Given the description of an element on the screen output the (x, y) to click on. 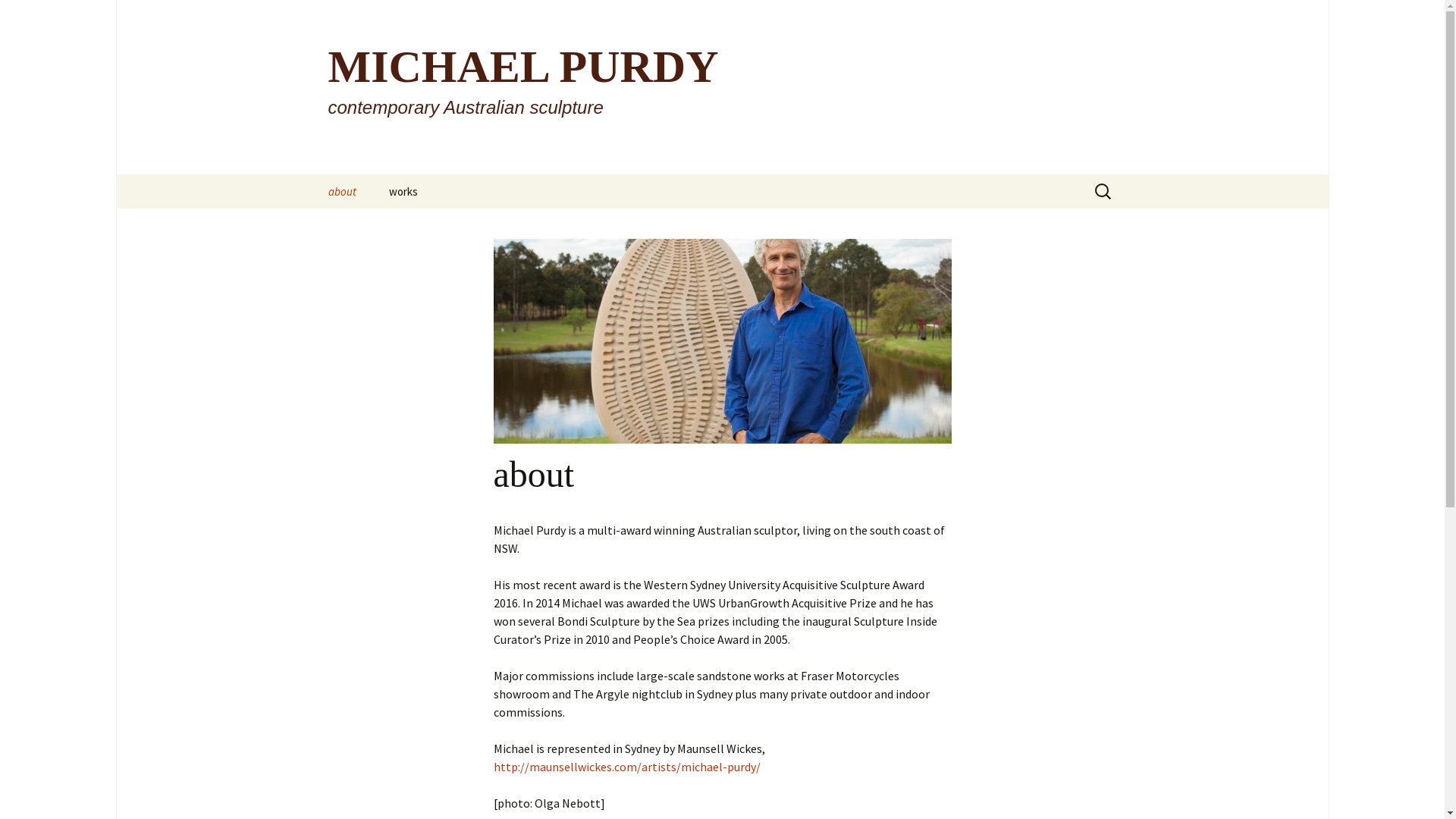
Skip to content Element type: text (352, 183)
http://maunsellwickes.com/artists/michael-purdy/ Element type: text (625, 766)
Search Element type: text (34, 15)
contact Element type: text (388, 225)
works Element type: text (402, 191)
about Element type: text (341, 191)
Search Element type: text (18, 16)
MICHAEL PURDY
contemporary Australian sculpture Element type: text (721, 87)
